Given the description of an element on the screen output the (x, y) to click on. 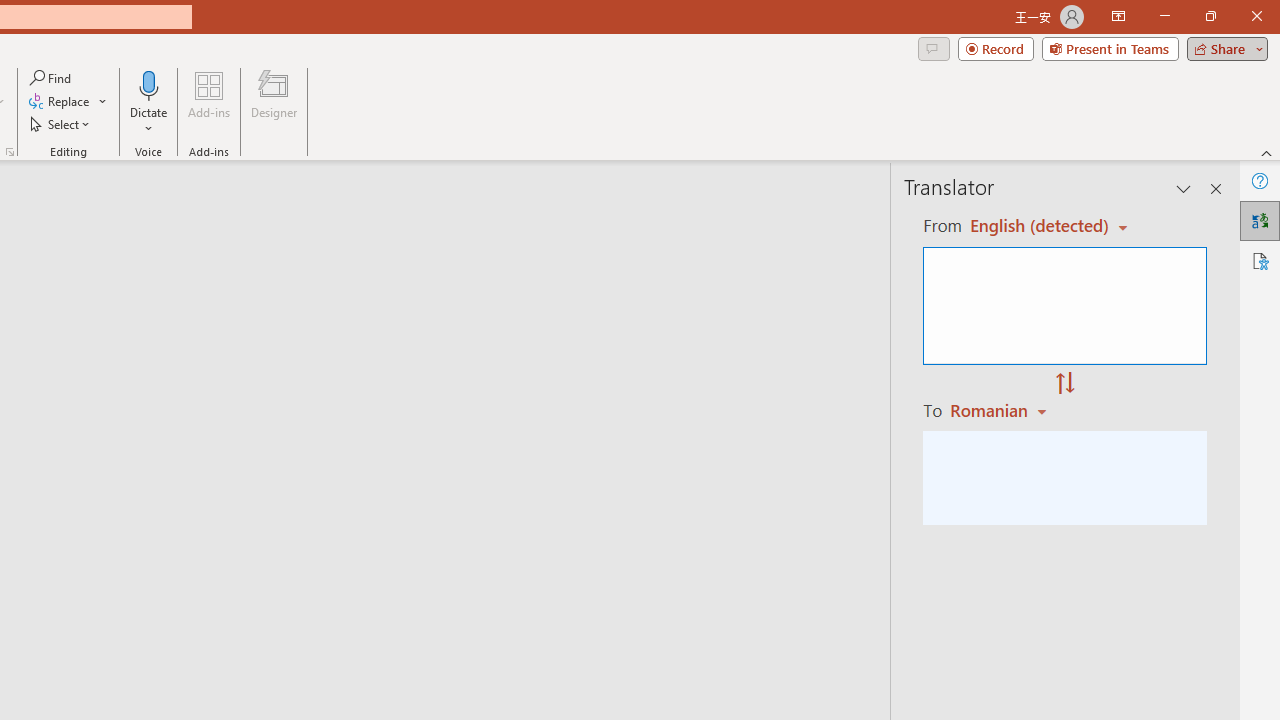
Romanian (1001, 409)
